Given the description of an element on the screen output the (x, y) to click on. 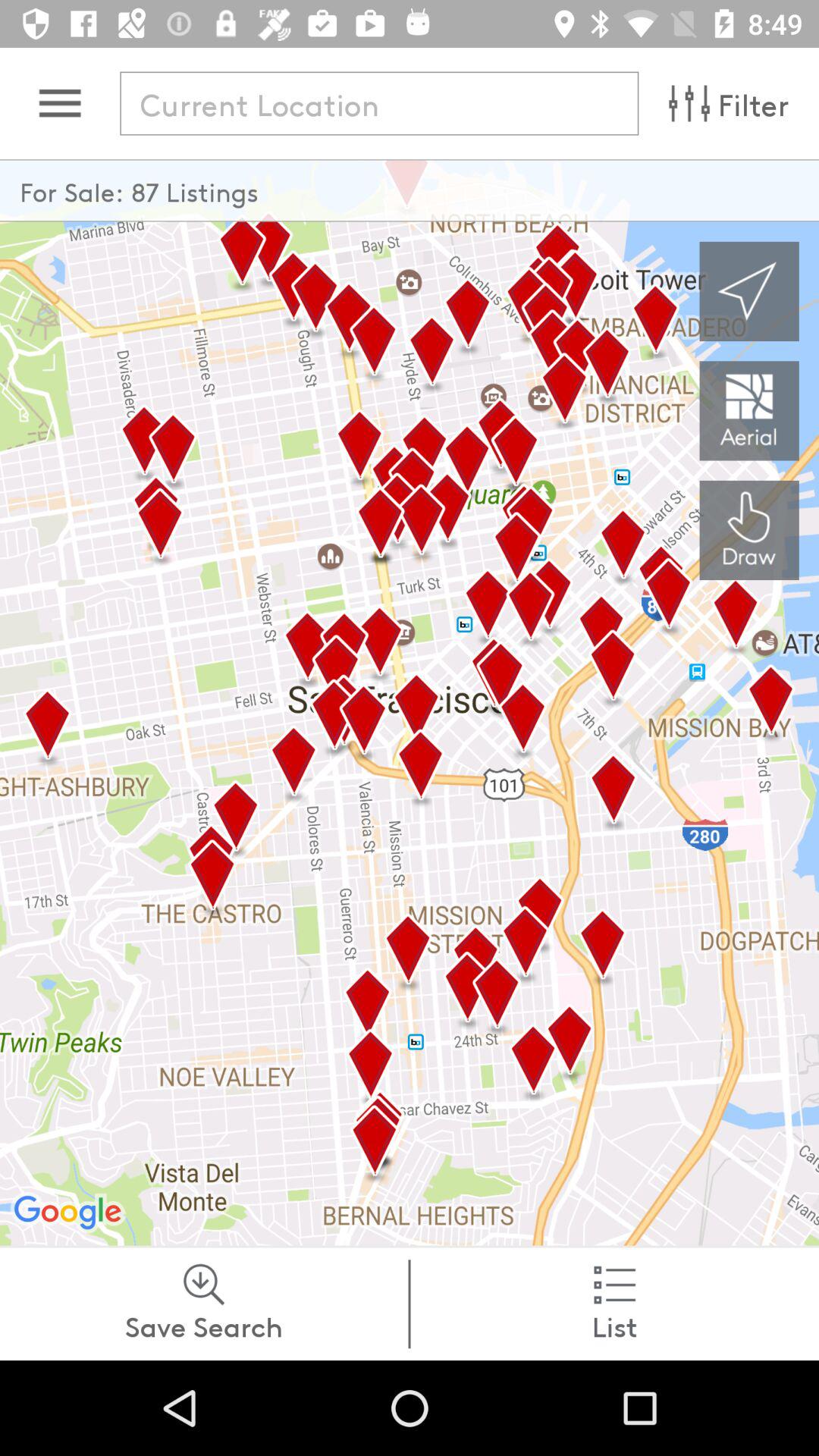
select save search (204, 1303)
